Given the description of an element on the screen output the (x, y) to click on. 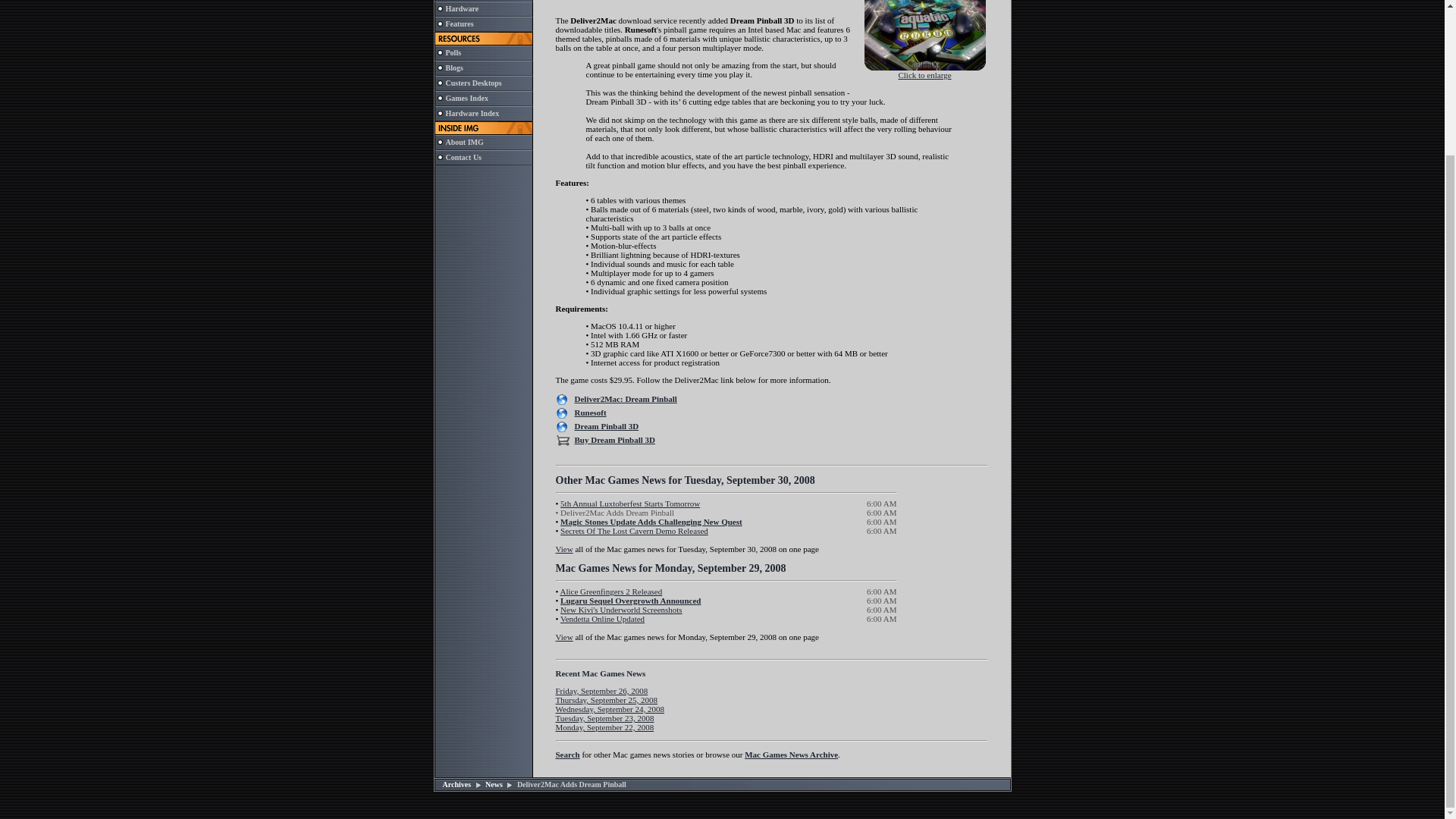
Click to enlarge (924, 71)
Lugaru Sequel Overgrowth Announced (630, 600)
Dream Pinball 3D (607, 425)
New Kivi's Underworld Screenshots (621, 609)
Alice Greenfingers 2 Released (610, 591)
Buy Dream Pinball 3D (615, 439)
Runesoft (591, 411)
Features (459, 23)
Vendetta Online Updated (602, 618)
Secrets Of The Lost Cavern Demo Released (633, 530)
Blogs (454, 67)
Magic Stones Update Adds Challenging New Quest (651, 521)
Custers Desktops (473, 82)
Deliver2Mac: Dream Pinball (626, 398)
Hardware (462, 8)
